Given the description of an element on the screen output the (x, y) to click on. 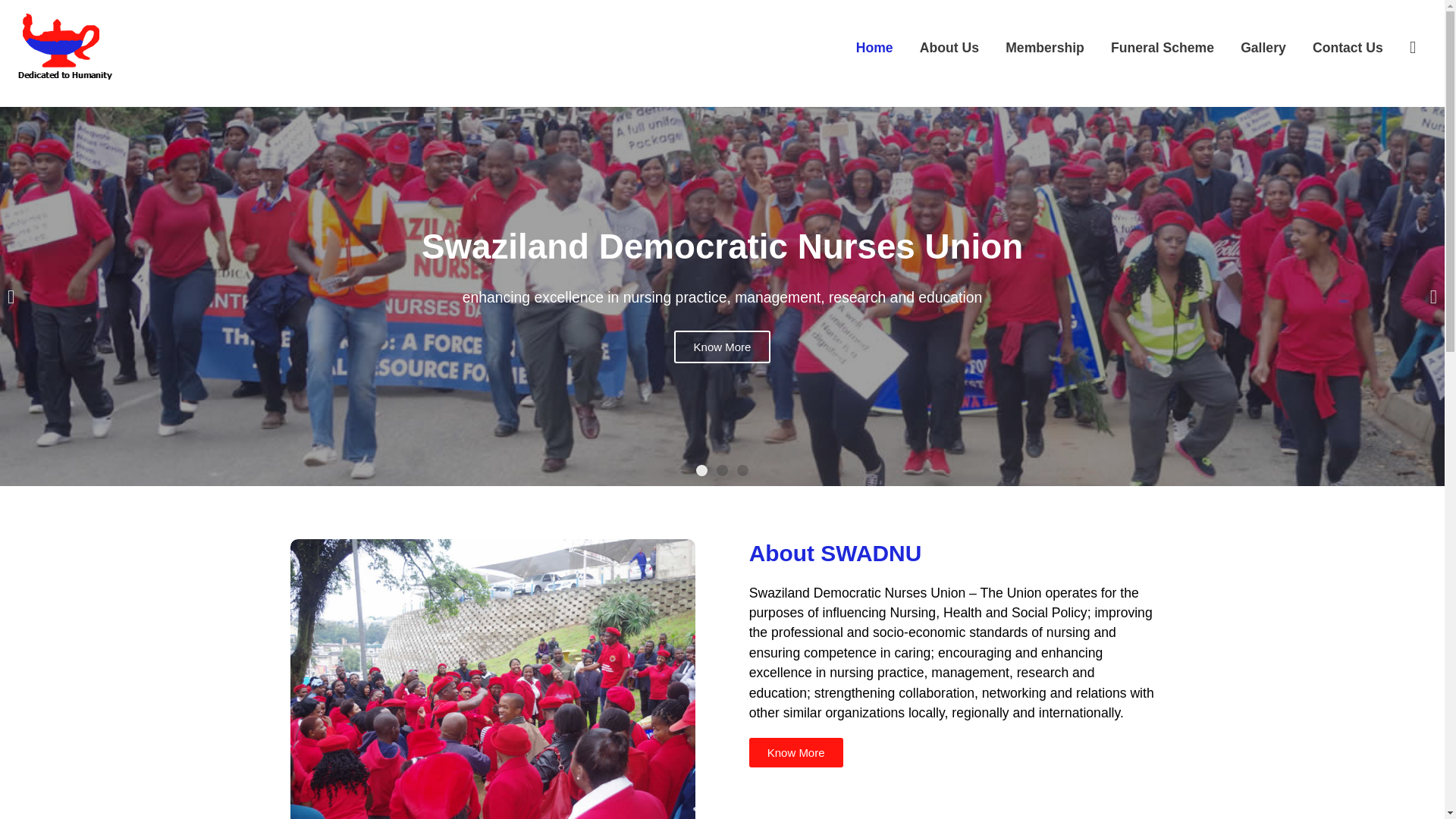
Know More (722, 346)
Contact Us (1347, 48)
Membership (1044, 48)
About Us (948, 48)
Funeral Scheme (1162, 48)
Know More (924, 752)
